Given the description of an element on the screen output the (x, y) to click on. 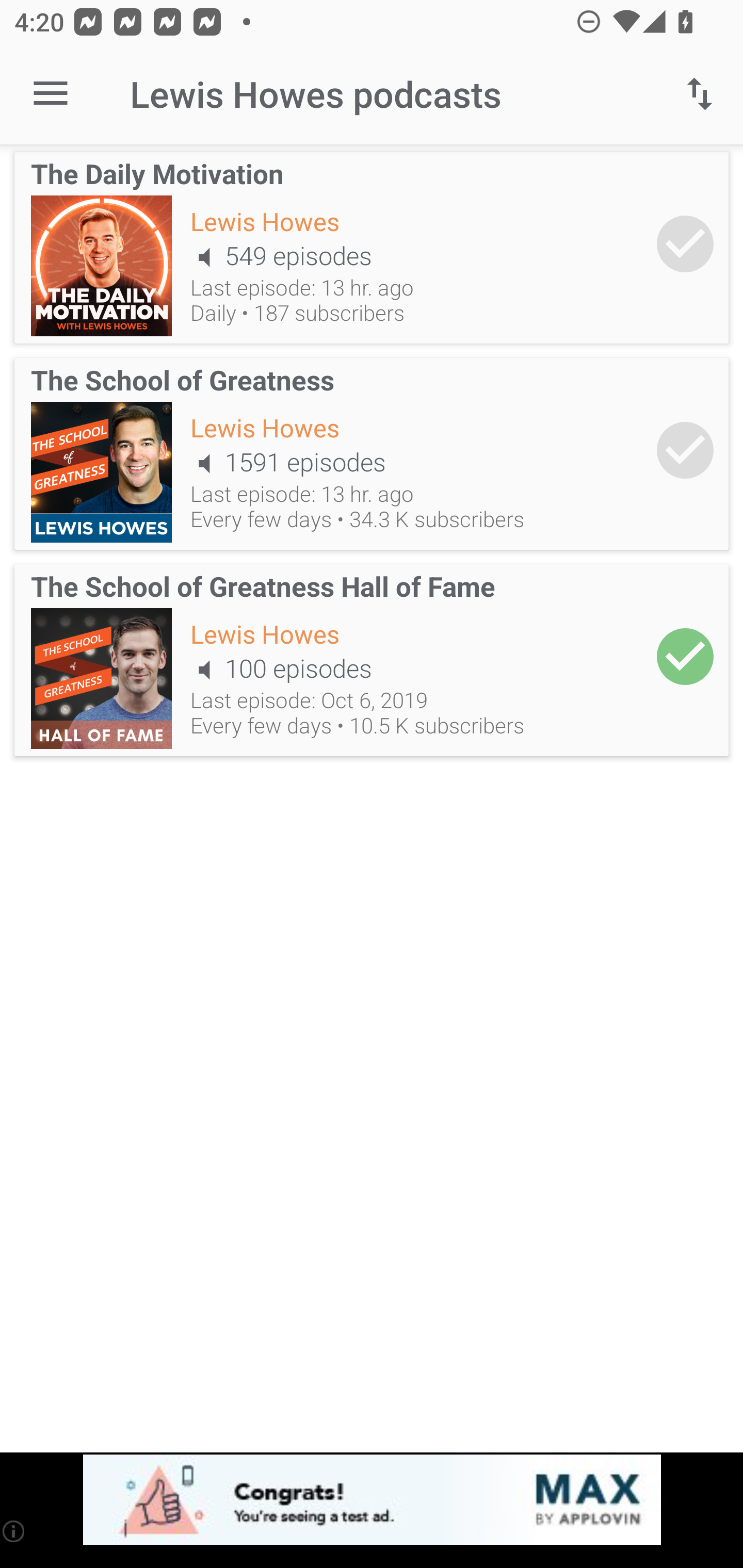
Open navigation sidebar (50, 93)
Sort (699, 93)
Add (684, 243)
Add (684, 450)
Add (684, 656)
app-monetization (371, 1500)
(i) (14, 1531)
